Given the description of an element on the screen output the (x, y) to click on. 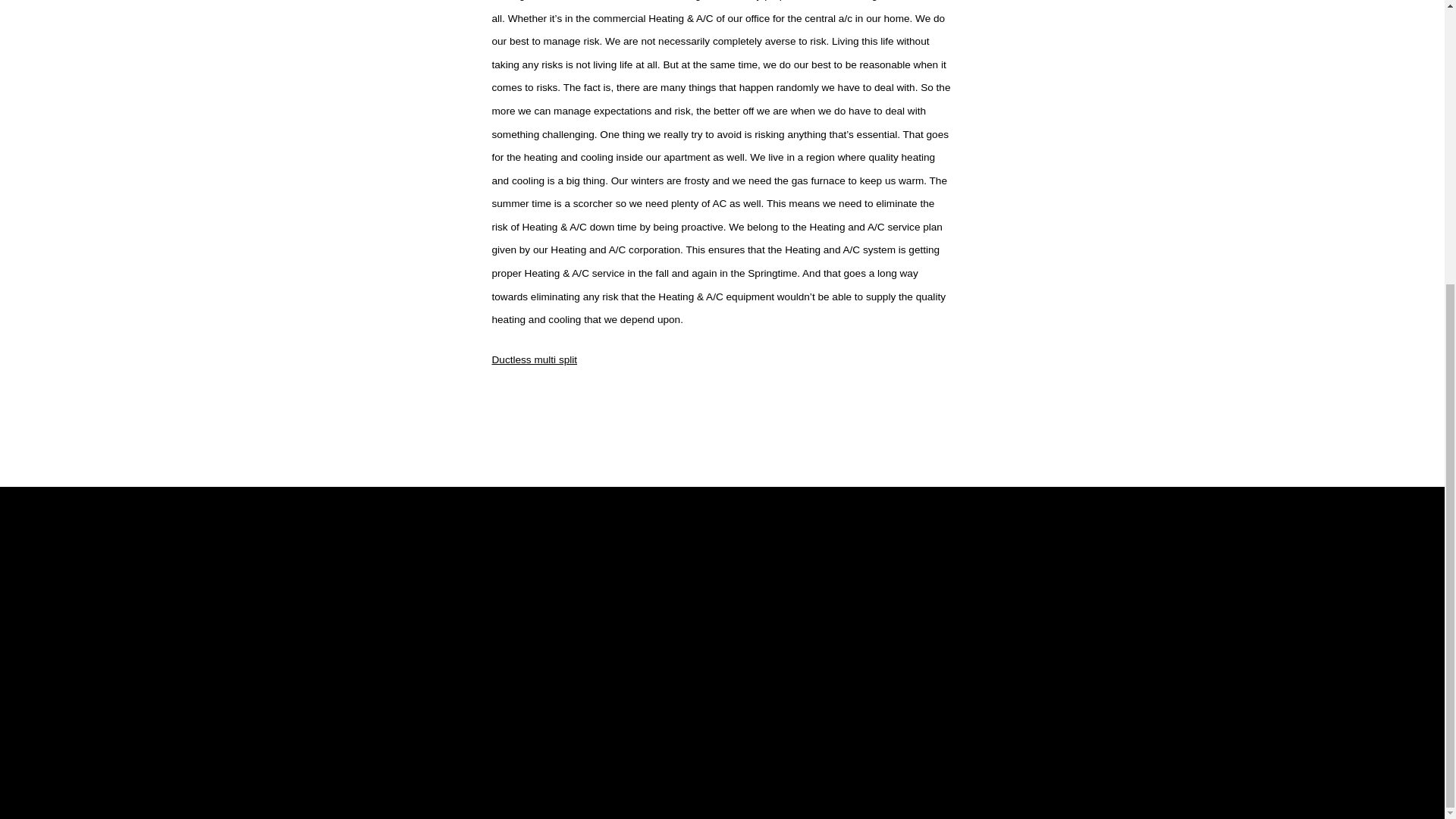
Ductless multi split (534, 359)
Open Instagram in a new tab (1101, 738)
THE AIR CONDITIONER TAX CREDIT BLOG (355, 625)
Open Pinterest in a new tab (1199, 738)
Open Facebook in a new tab (1002, 738)
Open Twitter in a new tab (1052, 738)
Home (514, 645)
Open LinkedIn in a new tab (1149, 738)
